Given the description of an element on the screen output the (x, y) to click on. 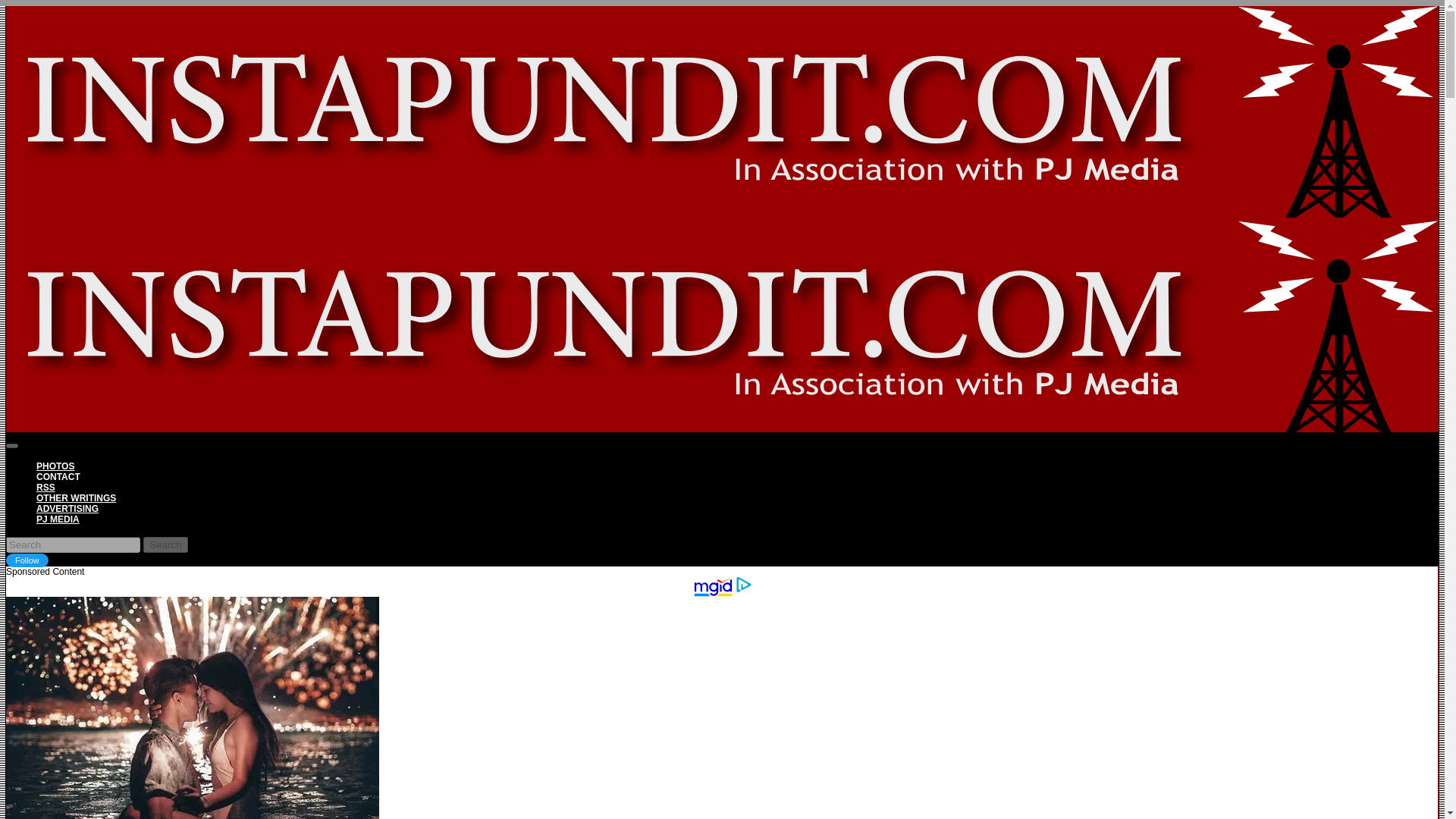
RSS (45, 487)
PHOTOS (55, 466)
Photos (55, 466)
PJ Media (58, 519)
CONTACT (58, 476)
Search (164, 544)
OTHER WRITINGS (76, 498)
Follow (26, 560)
PJ MEDIA (58, 519)
Other Writings (76, 498)
RSS (45, 487)
Advertising (67, 508)
Contact (58, 476)
ADVERTISING (67, 508)
